Given the description of an element on the screen output the (x, y) to click on. 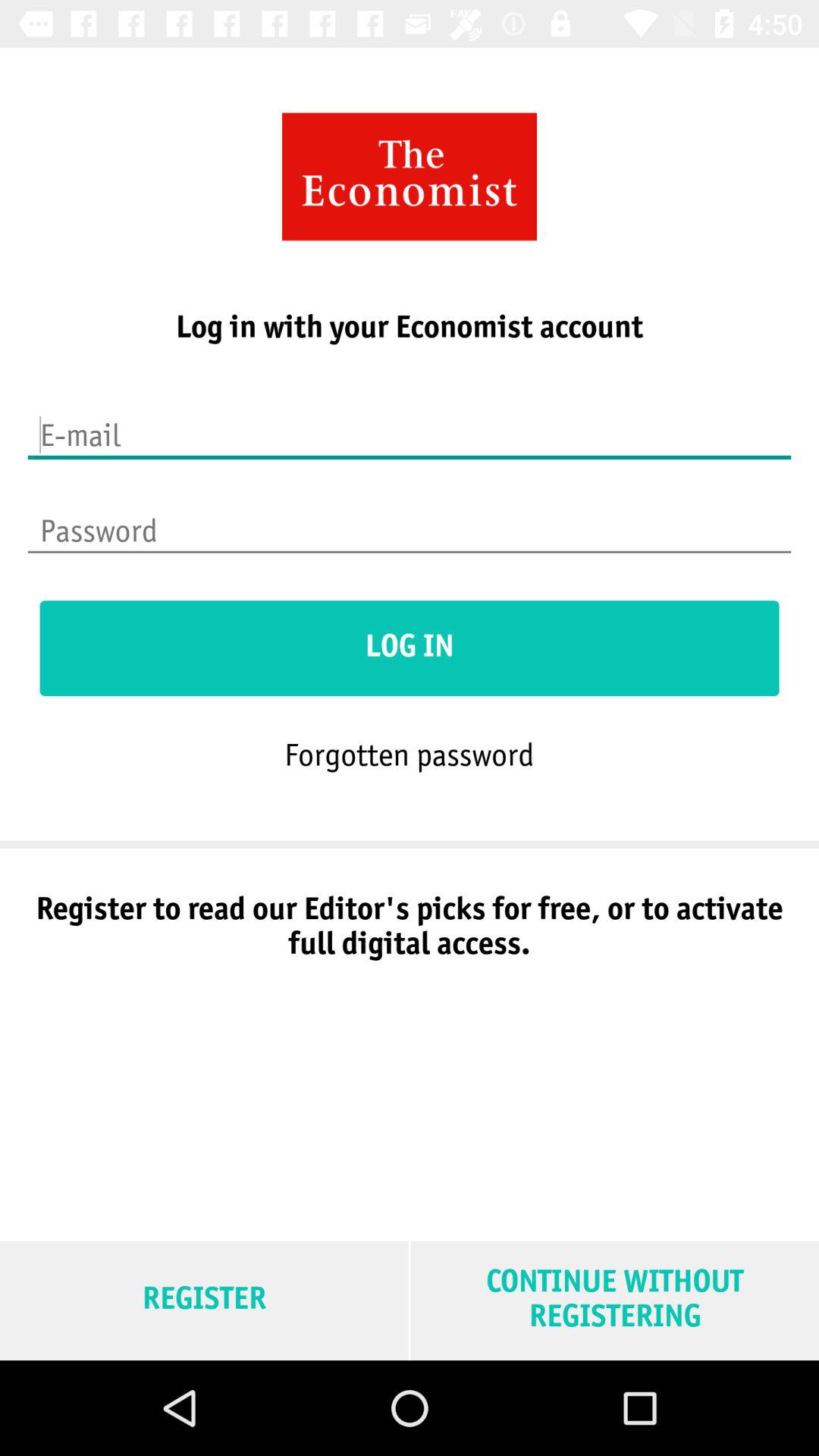
enter password (409, 520)
